Given the description of an element on the screen output the (x, y) to click on. 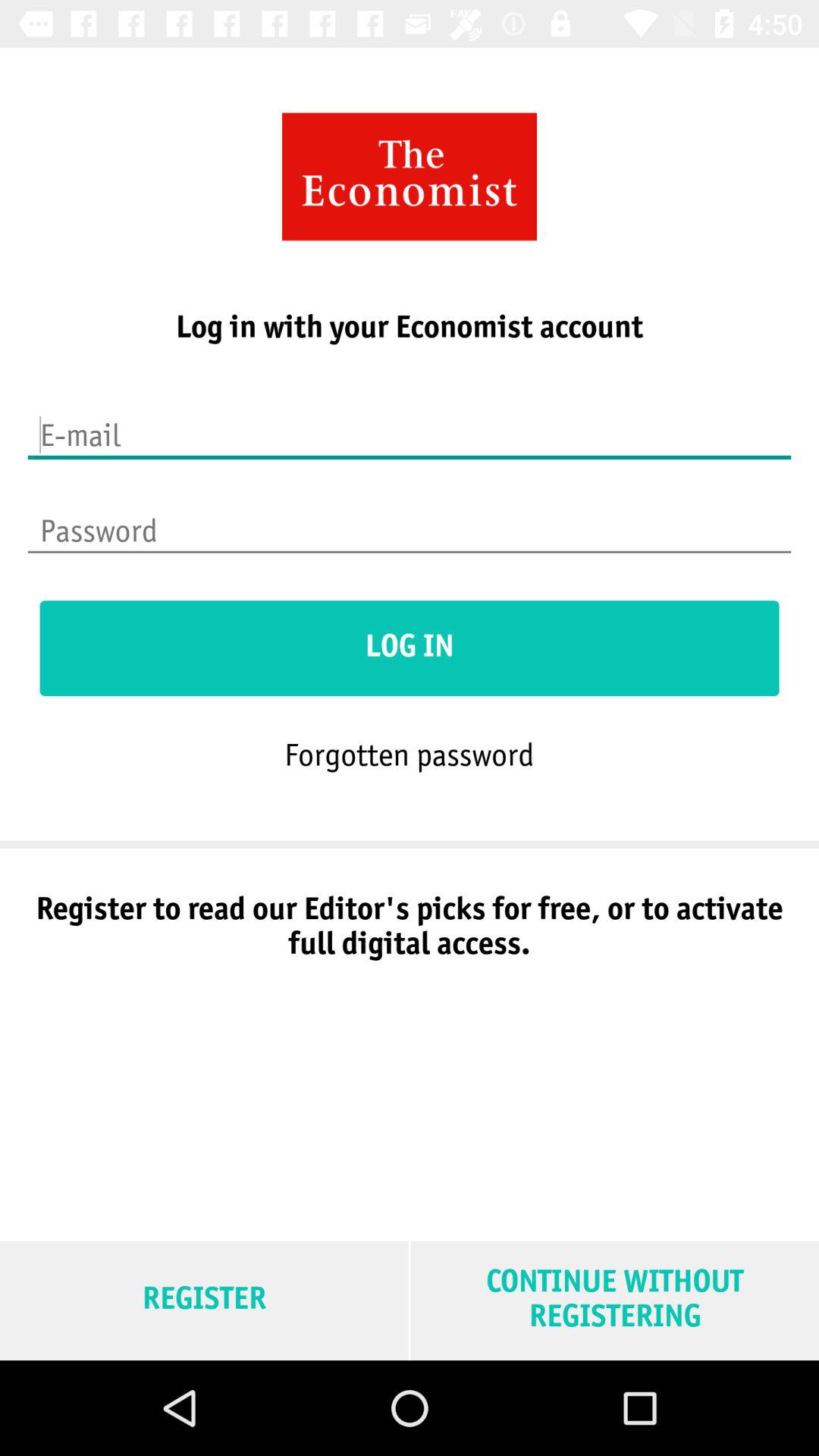
enter password (409, 520)
